Given the description of an element on the screen output the (x, y) to click on. 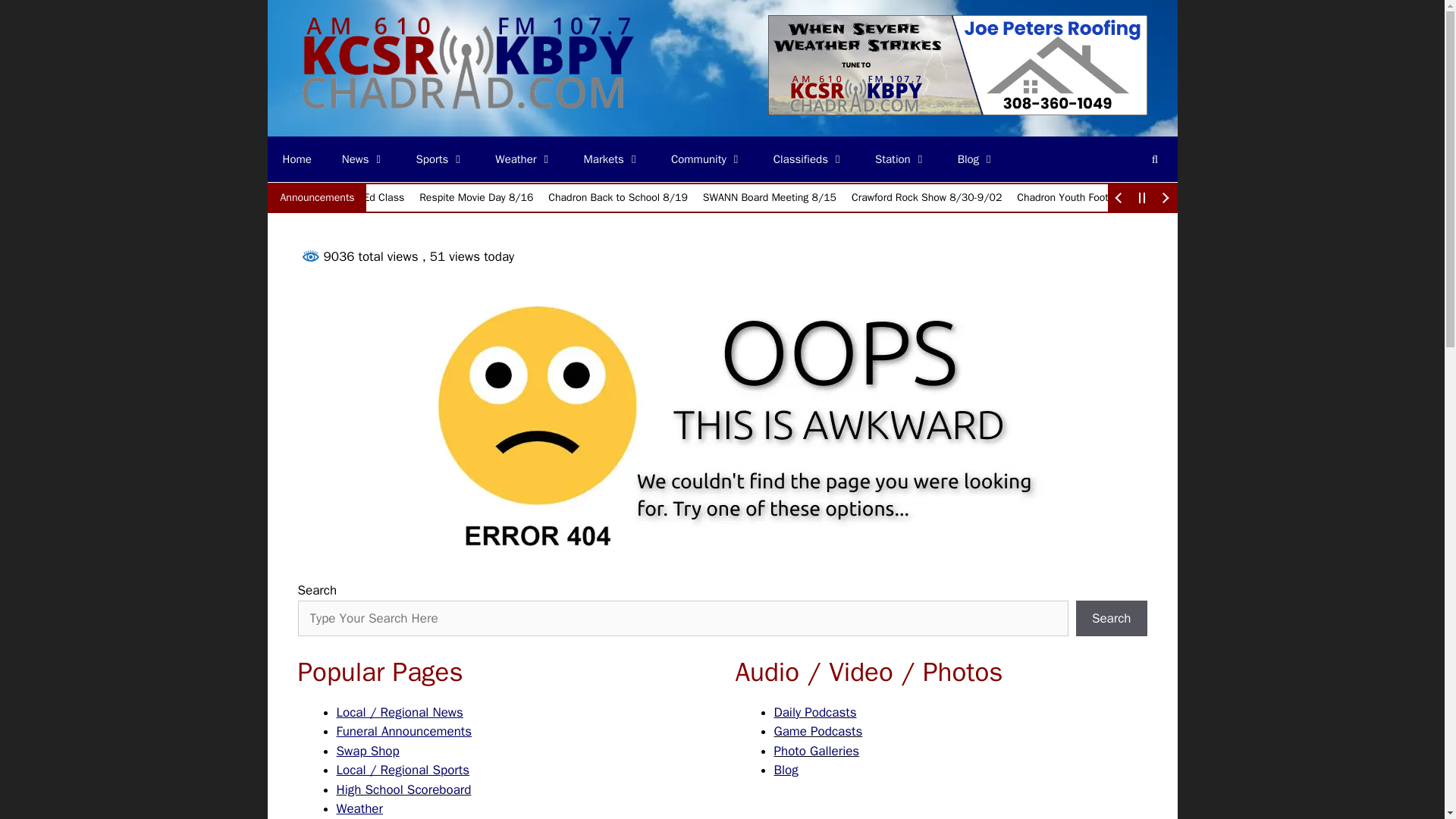
Community (707, 158)
Home (296, 158)
Markets (612, 158)
News (363, 158)
Classifieds (809, 158)
Weather (523, 158)
Sports (440, 158)
